Given the description of an element on the screen output the (x, y) to click on. 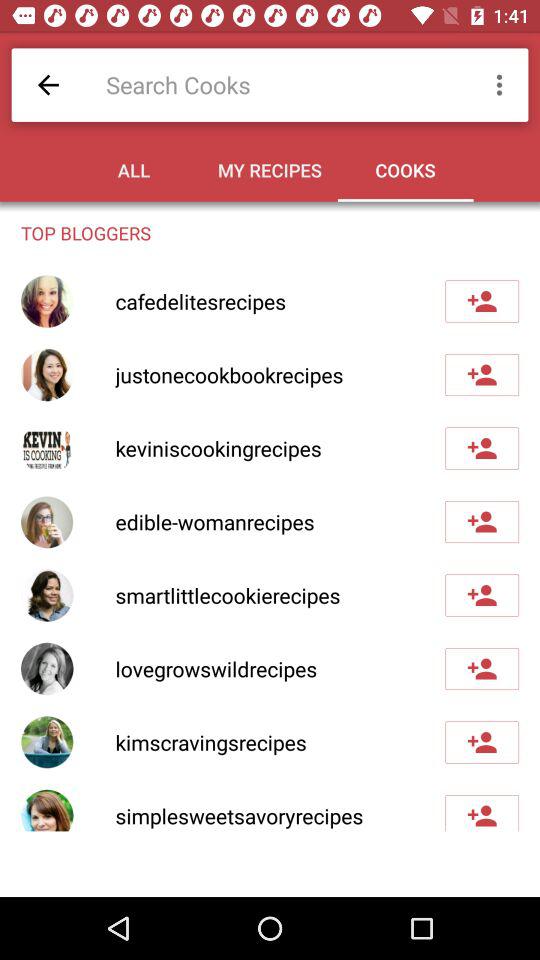
add friend (482, 595)
